Given the description of an element on the screen output the (x, y) to click on. 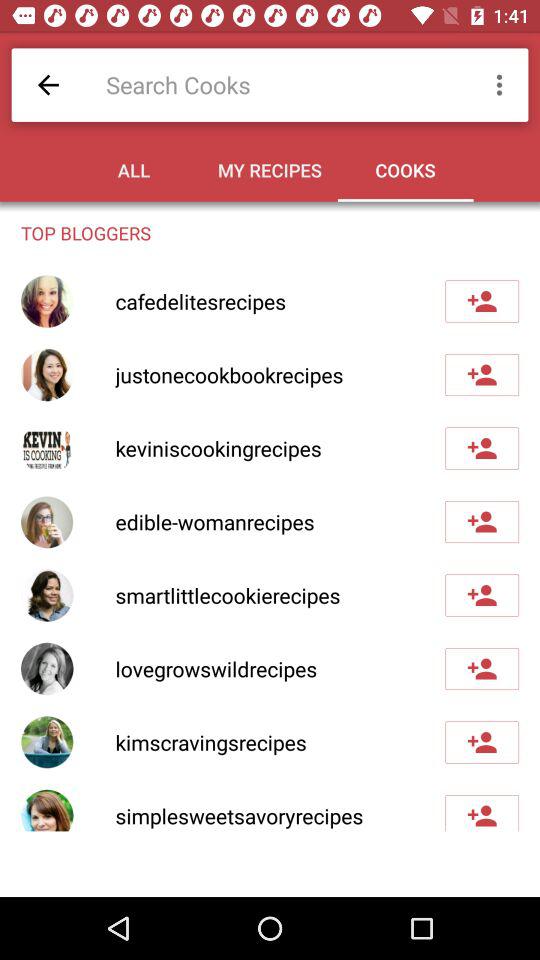
add friend (482, 595)
